Given the description of an element on the screen output the (x, y) to click on. 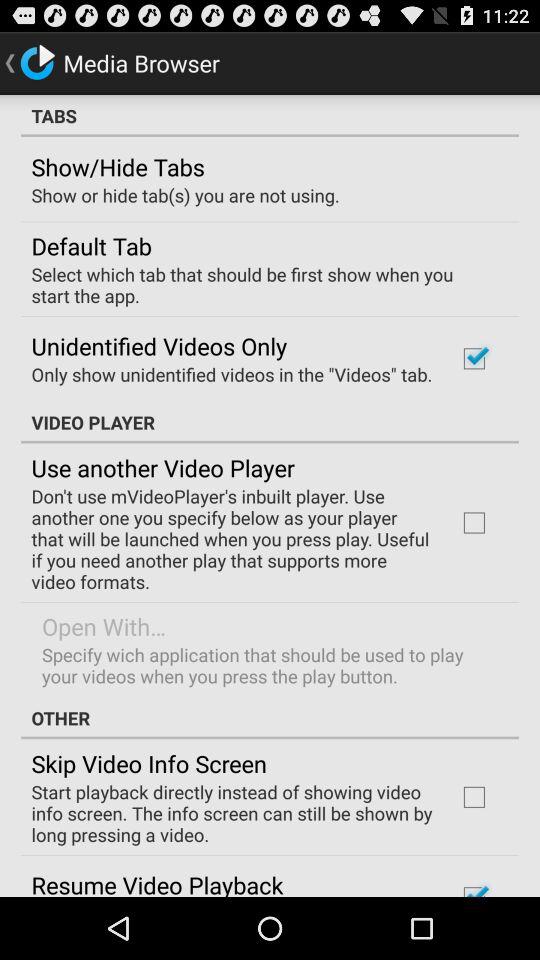
select the icon below specify wich application (270, 718)
